Given the description of an element on the screen output the (x, y) to click on. 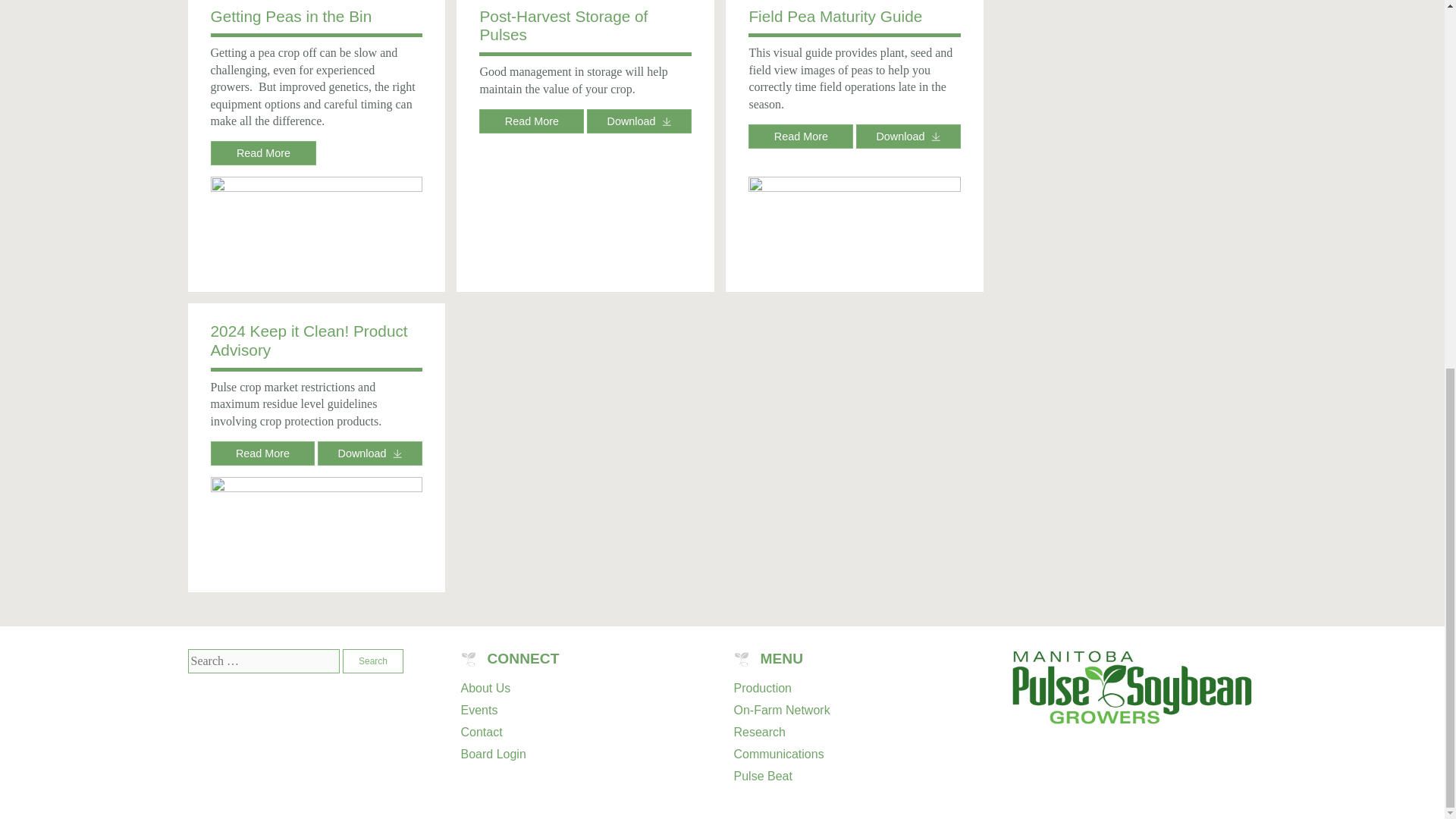
Search (372, 661)
Search (372, 661)
Getting Peas in the Bin (291, 16)
Read More (264, 152)
